Given the description of an element on the screen output the (x, y) to click on. 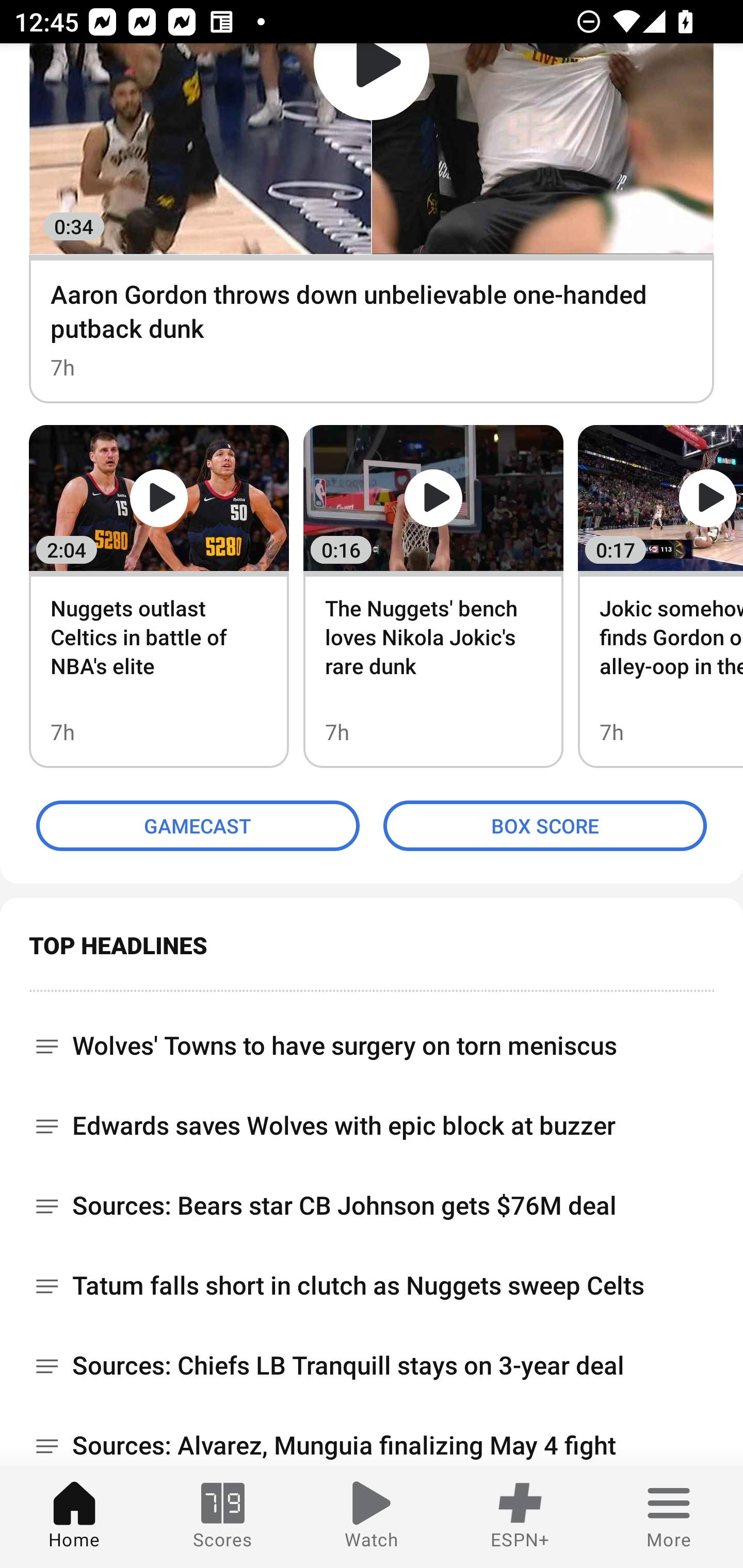
GAMECAST (197, 826)
BOX SCORE (544, 826)
 Wolves' Towns to have surgery on torn meniscus (371, 1039)
 Edwards saves Wolves with epic block at buzzer (371, 1126)
 Sources: Bears star CB Johnson gets $76M deal (371, 1206)
 Sources: Alvarez, Munguia finalizing May 4 fight (371, 1436)
Scores (222, 1517)
Watch (371, 1517)
ESPN+ (519, 1517)
More (668, 1517)
